Given the description of an element on the screen output the (x, y) to click on. 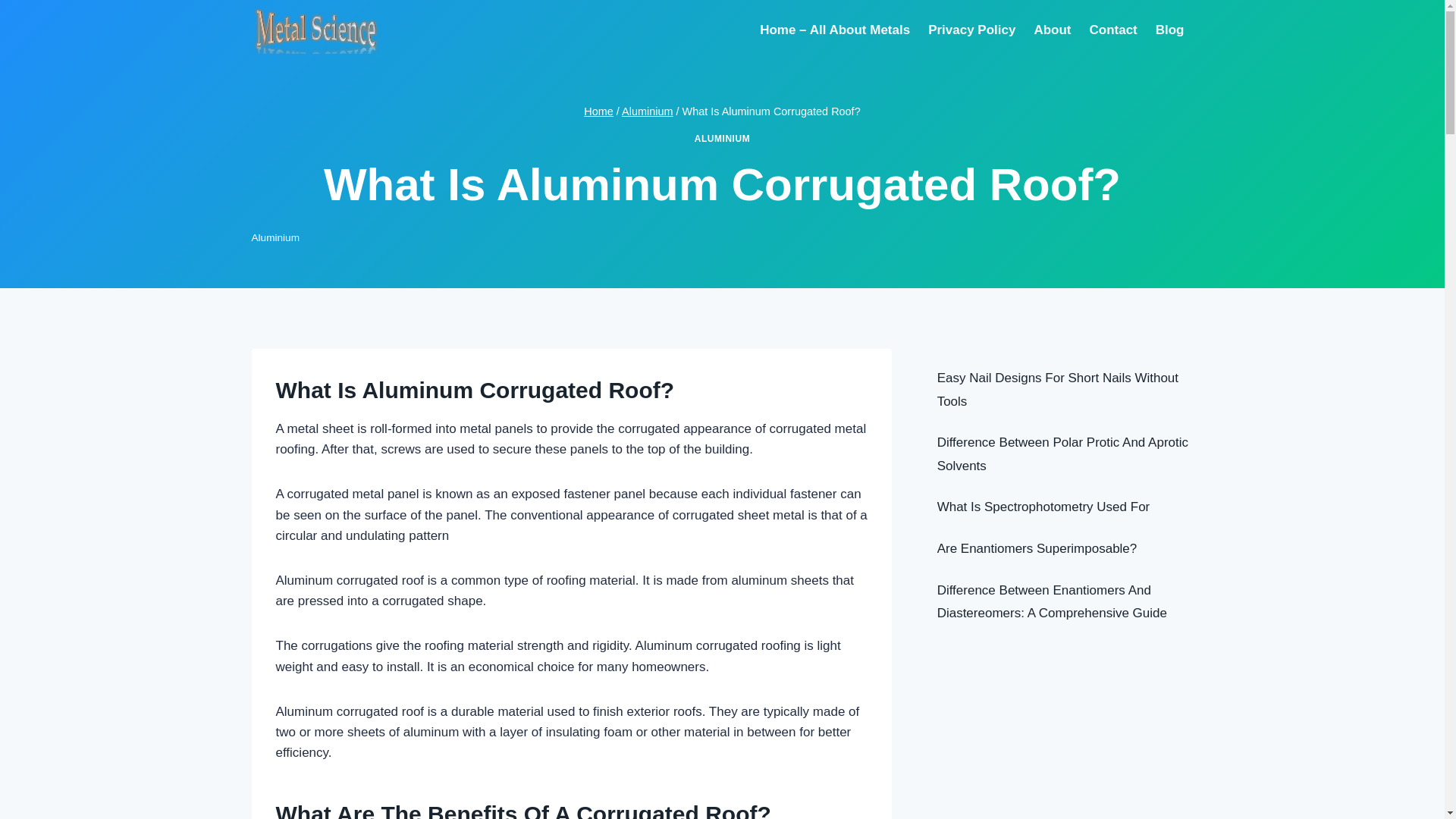
Privacy Policy (971, 30)
ALUMINIUM (721, 138)
Aluminium (646, 111)
Home (597, 111)
About (1052, 30)
Blog (1170, 30)
Aluminium (275, 237)
Contact (1112, 30)
